Given the description of an element on the screen output the (x, y) to click on. 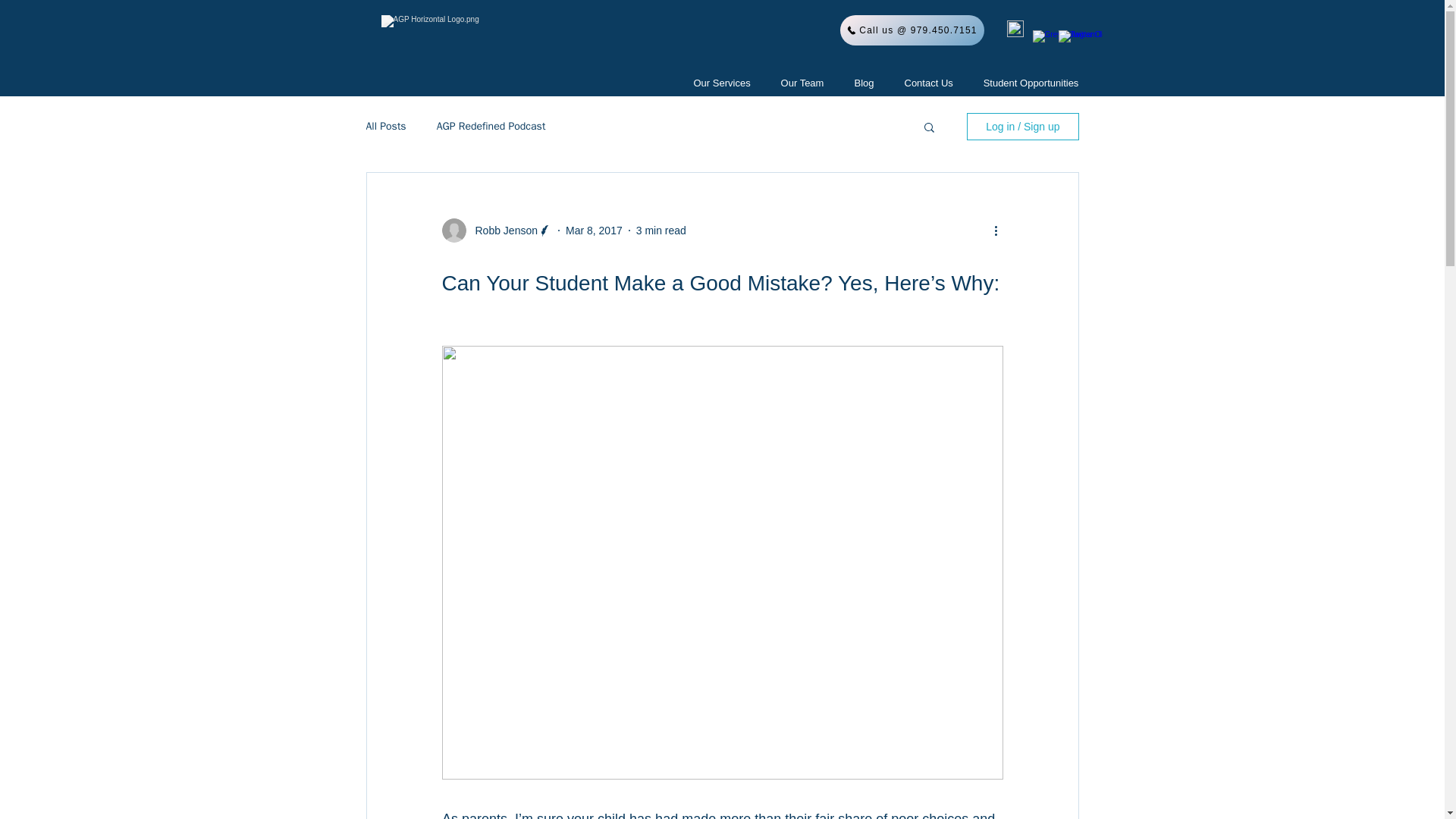
Mar 8, 2017 (594, 230)
Blog (863, 82)
All Posts (385, 126)
3 min read (660, 230)
AGP Redefined Podcast (491, 126)
Our Team (802, 82)
Contact Us (928, 82)
Robb Jenson (501, 230)
